Given the description of an element on the screen output the (x, y) to click on. 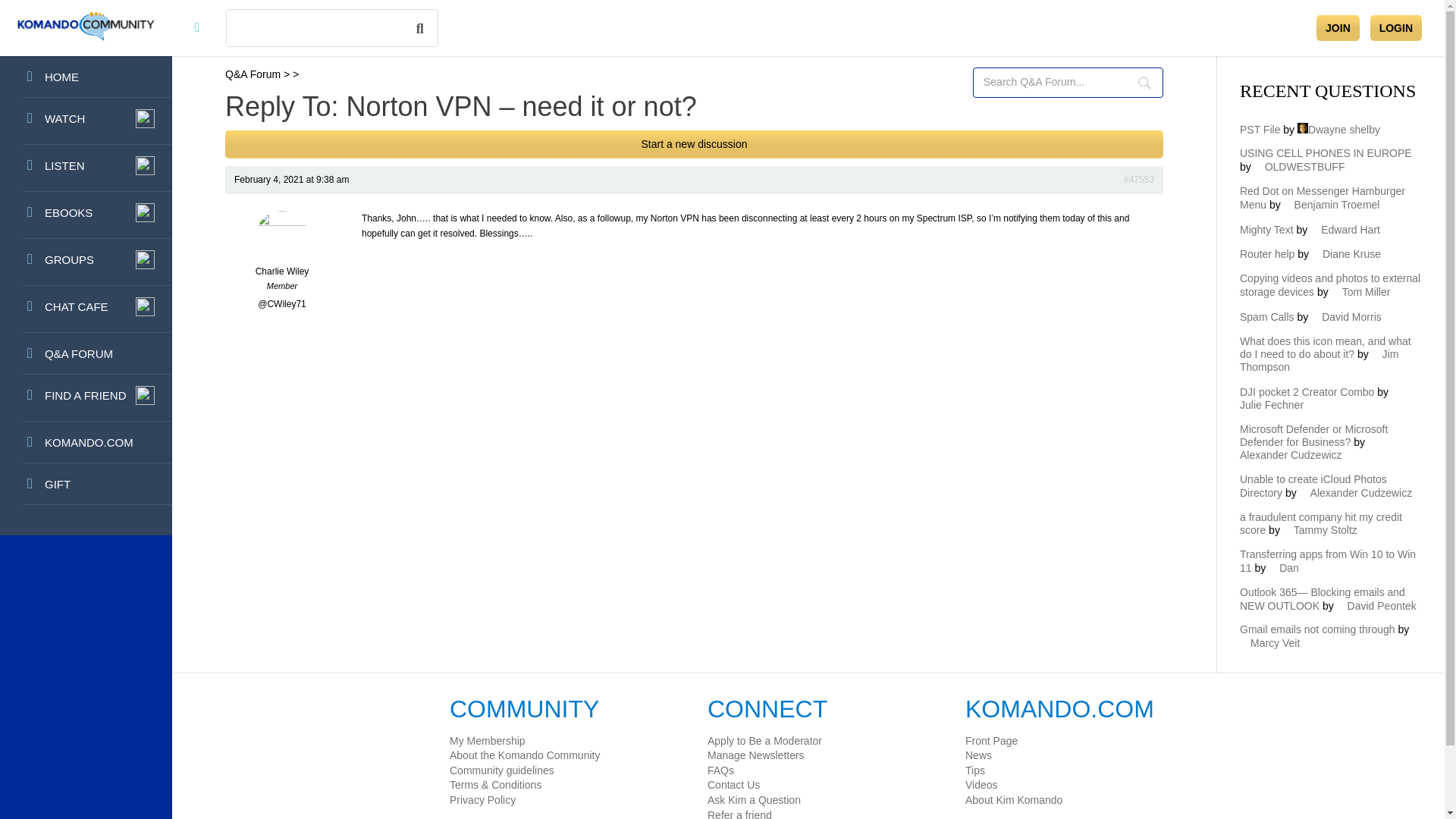
Menu (197, 27)
JOIN (1337, 27)
View Dwayne shelby's profile (1338, 129)
WATCH (85, 120)
GROUPS (85, 262)
View Alexander Cudzewicz's profile (1309, 448)
CHAT CAFE (85, 308)
EBOOKS (85, 215)
LISTEN (85, 167)
View Diane Kruse's profile (1345, 254)
LOGIN (1396, 27)
KOMANDO.COM (85, 442)
View Charlie Wiley's profile (282, 246)
HOME (85, 76)
View Dan's profile (1283, 567)
